Given the description of an element on the screen output the (x, y) to click on. 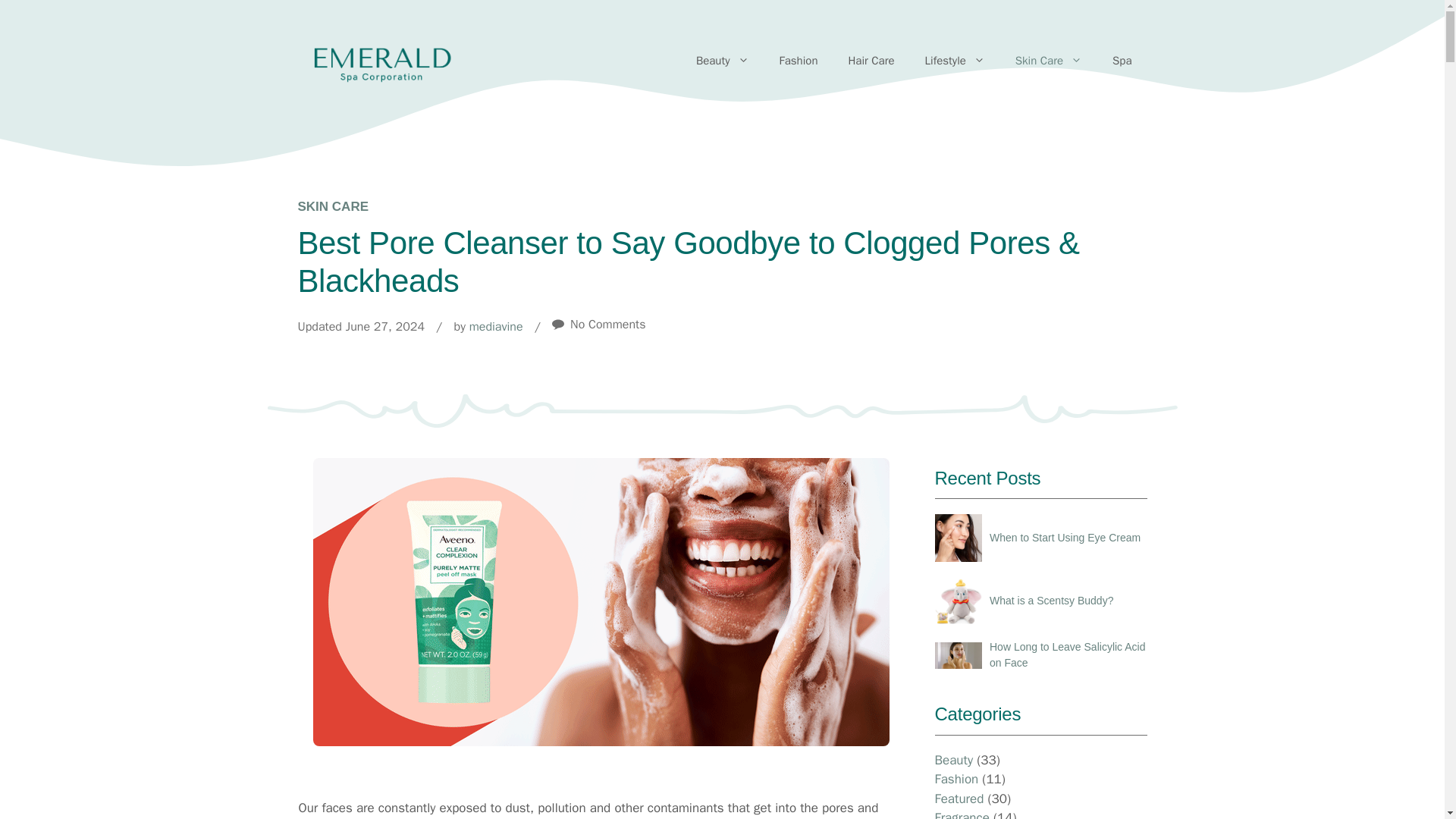
Beauty (722, 60)
Skin Care (1048, 60)
Lifestyle (955, 60)
SKIN CARE (332, 206)
Fashion (798, 60)
Hair Care (870, 60)
mediavine (495, 326)
Spa (1122, 60)
